Given the description of an element on the screen output the (x, y) to click on. 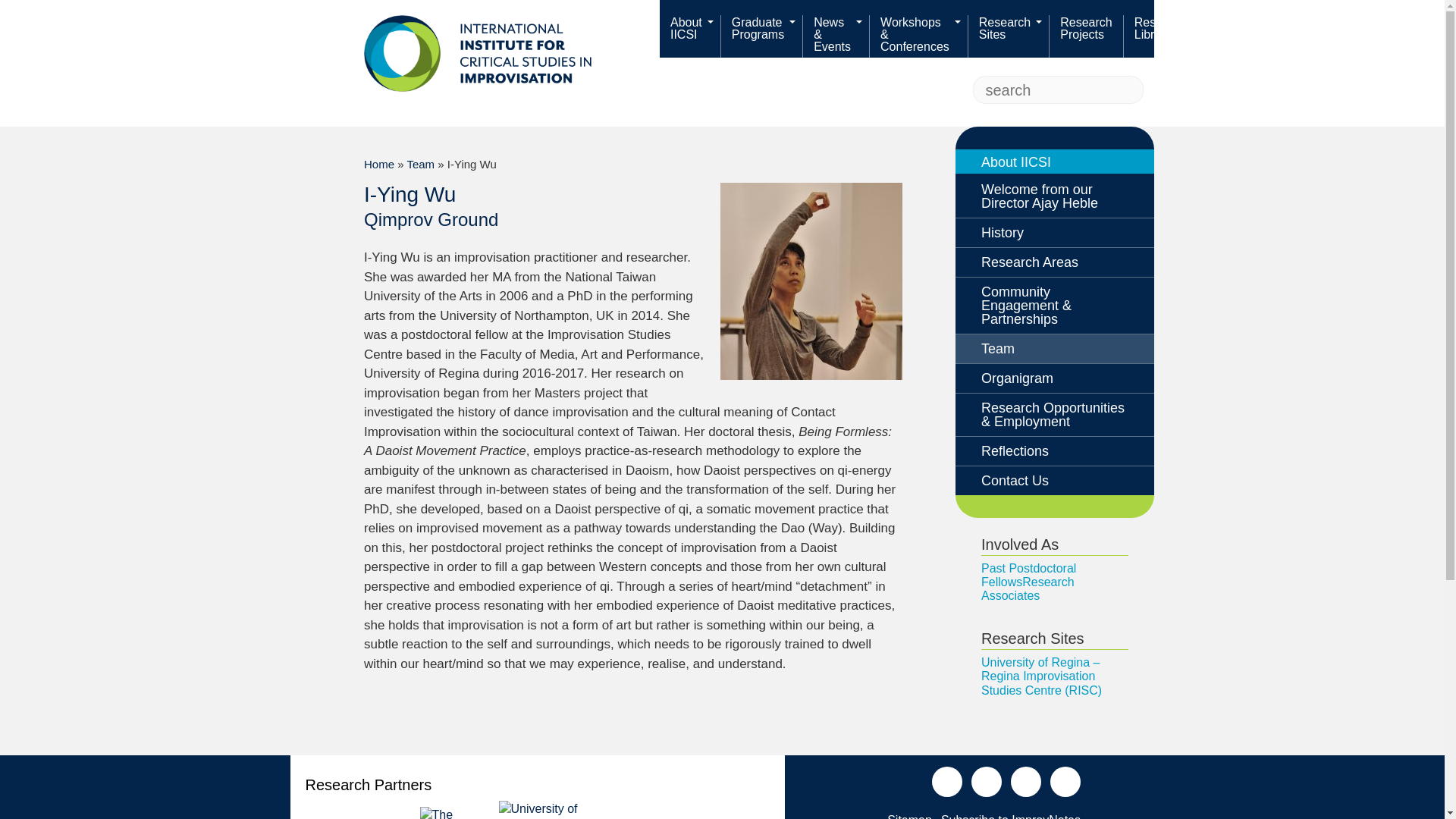
Graduate Programs (761, 36)
About IICSI (689, 36)
